Given the description of an element on the screen output the (x, y) to click on. 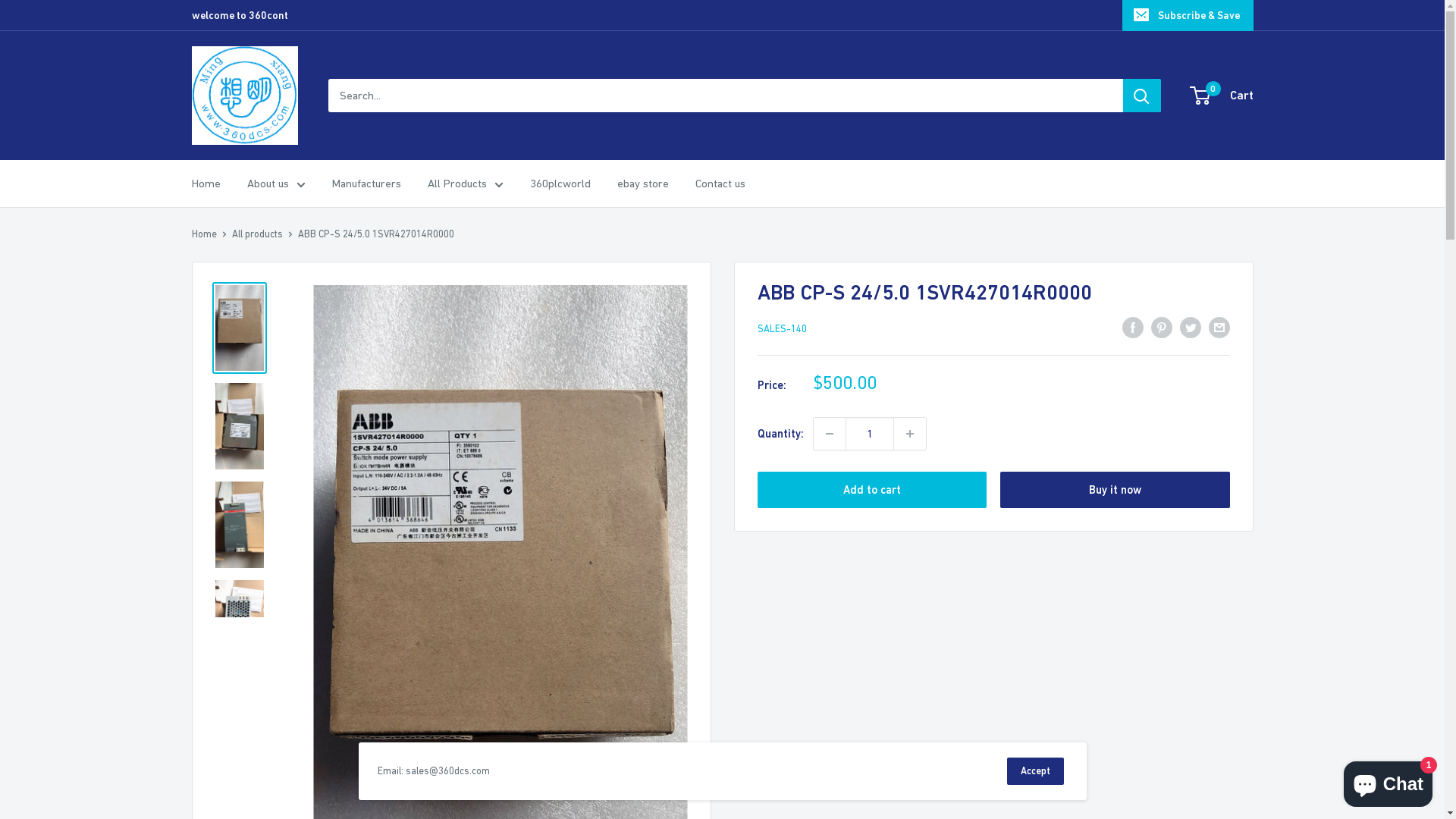
Subscribe & Save Element type: text (1187, 15)
Home Element type: text (205, 183)
0
Cart Element type: text (1221, 95)
All products Element type: text (257, 233)
Increase quantity by 1 Element type: hover (909, 433)
Decrease quantity by 1 Element type: hover (828, 433)
About us Element type: text (276, 183)
SALES-140 Element type: text (781, 328)
Accept Element type: text (1035, 770)
Buy it now Element type: text (1115, 489)
360cont Element type: text (244, 95)
ebay store Element type: text (642, 183)
Shopify online store chat Element type: hover (1388, 780)
Add to cart Element type: text (871, 489)
Contact us Element type: text (719, 183)
All Products Element type: text (465, 183)
Manufacturers Element type: text (366, 183)
360plcworld Element type: text (559, 183)
Home Element type: text (203, 233)
